Given the description of an element on the screen output the (x, y) to click on. 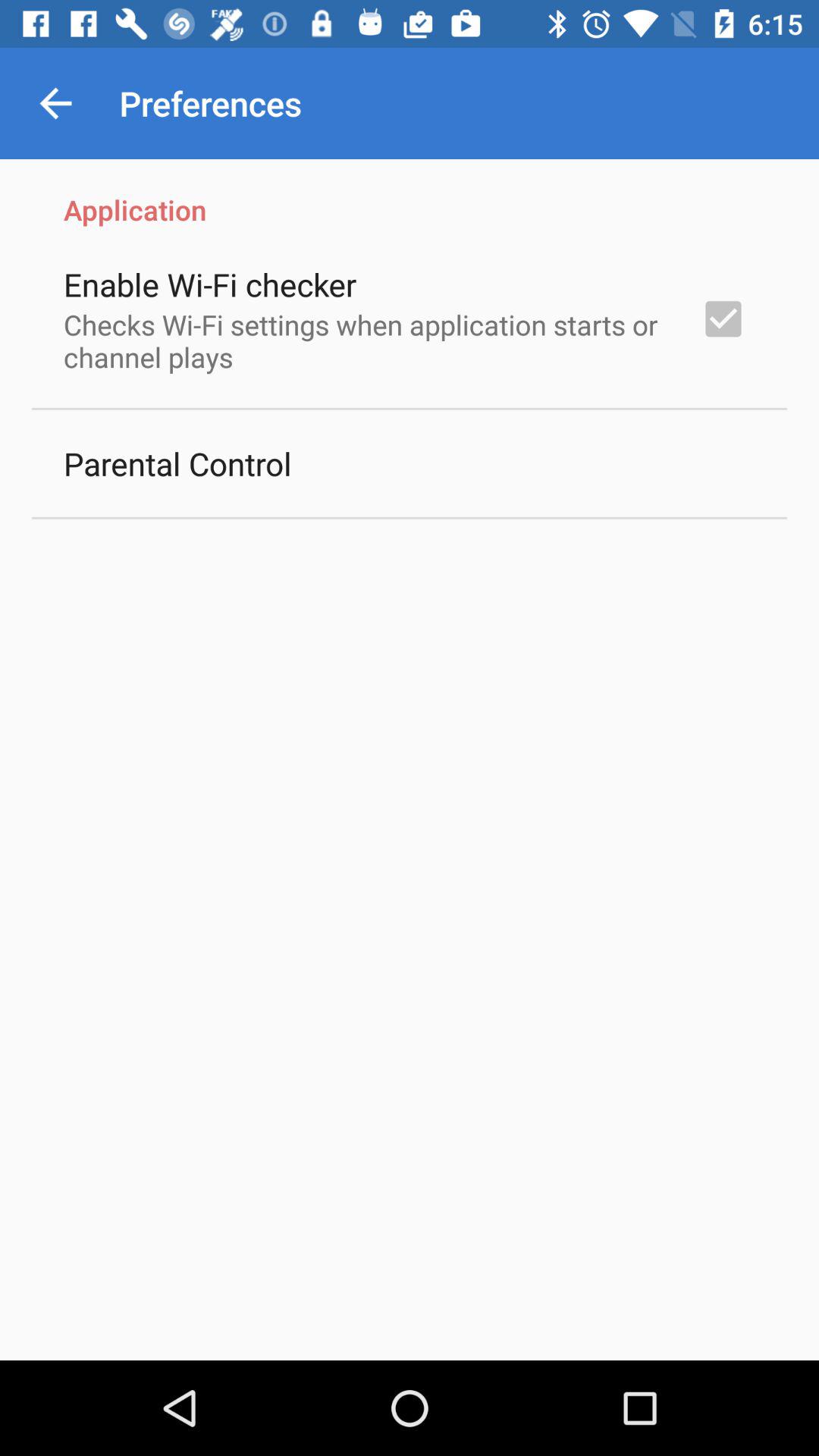
choose the app next to the preferences item (55, 103)
